Given the description of an element on the screen output the (x, y) to click on. 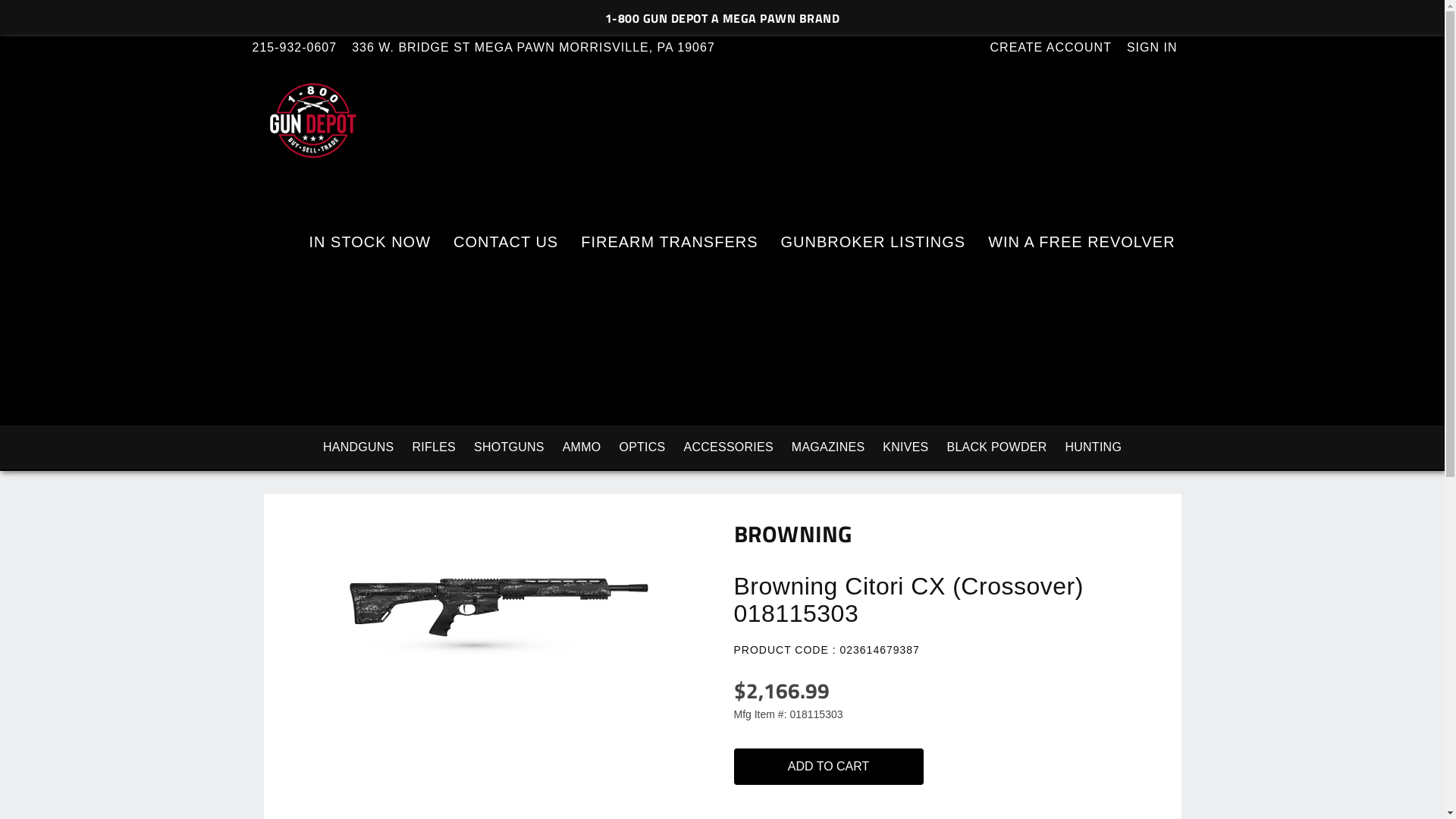
WIN A FREE REVOLVER Element type: text (1081, 241)
SIGN IN Element type: text (1159, 47)
ADD TO CART Element type: text (836, 770)
HUNTING Element type: text (1092, 446)
OPTICS Element type: text (641, 446)
BLACK POWDER Element type: text (997, 446)
215-932-0607 Element type: text (301, 47)
GUNBROKER LISTINGS Element type: text (873, 241)
336 W. BRIDGE ST MEGA PAWN MORRISVILLE, PA 19067 Element type: text (540, 47)
ADD TO CART Element type: text (828, 766)
SHOTGUNS Element type: text (508, 446)
AMMO Element type: text (581, 446)
CONTACT US Element type: text (505, 241)
FIREARM TRANSFERS Element type: text (668, 241)
CREATE ACCOUNT Element type: text (1058, 47)
MAGAZINES Element type: text (827, 446)
ACCESSORIES Element type: text (728, 446)
IN STOCK NOW Element type: text (369, 241)
RIFLES Element type: text (433, 446)
KNIVES Element type: text (905, 446)
HANDGUNS Element type: text (358, 446)
